Given the description of an element on the screen output the (x, y) to click on. 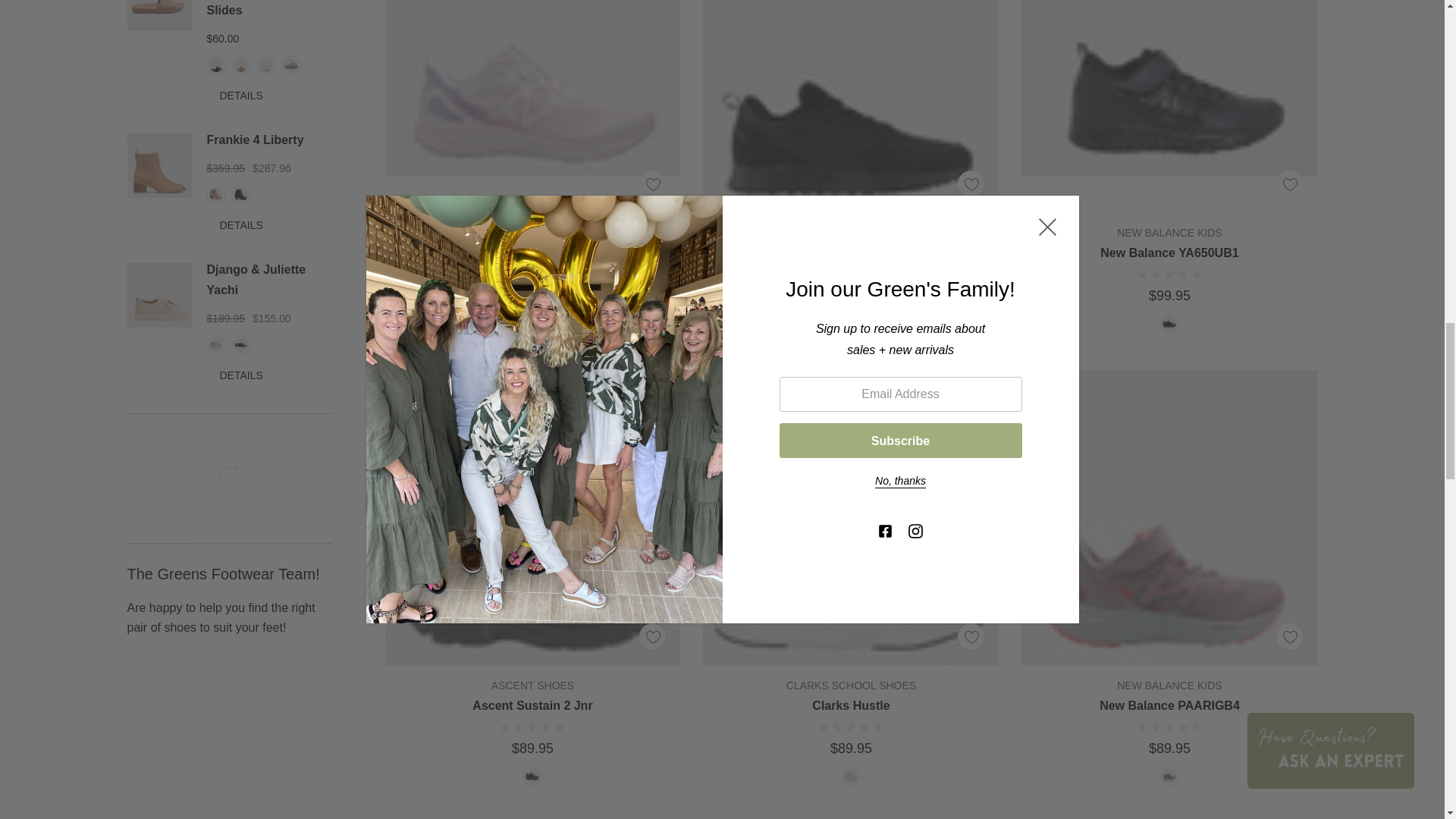
Latte Vanilla Patent (215, 344)
Biscuit (160, 165)
Biscuit (215, 194)
Black (240, 194)
Tan (240, 65)
White (265, 65)
tan (160, 15)
Taupe (290, 65)
Latte Vanilla Patent (160, 294)
Black (215, 65)
Black Black Patent (240, 344)
sidecut2.png (228, 478)
